Given the description of an element on the screen output the (x, y) to click on. 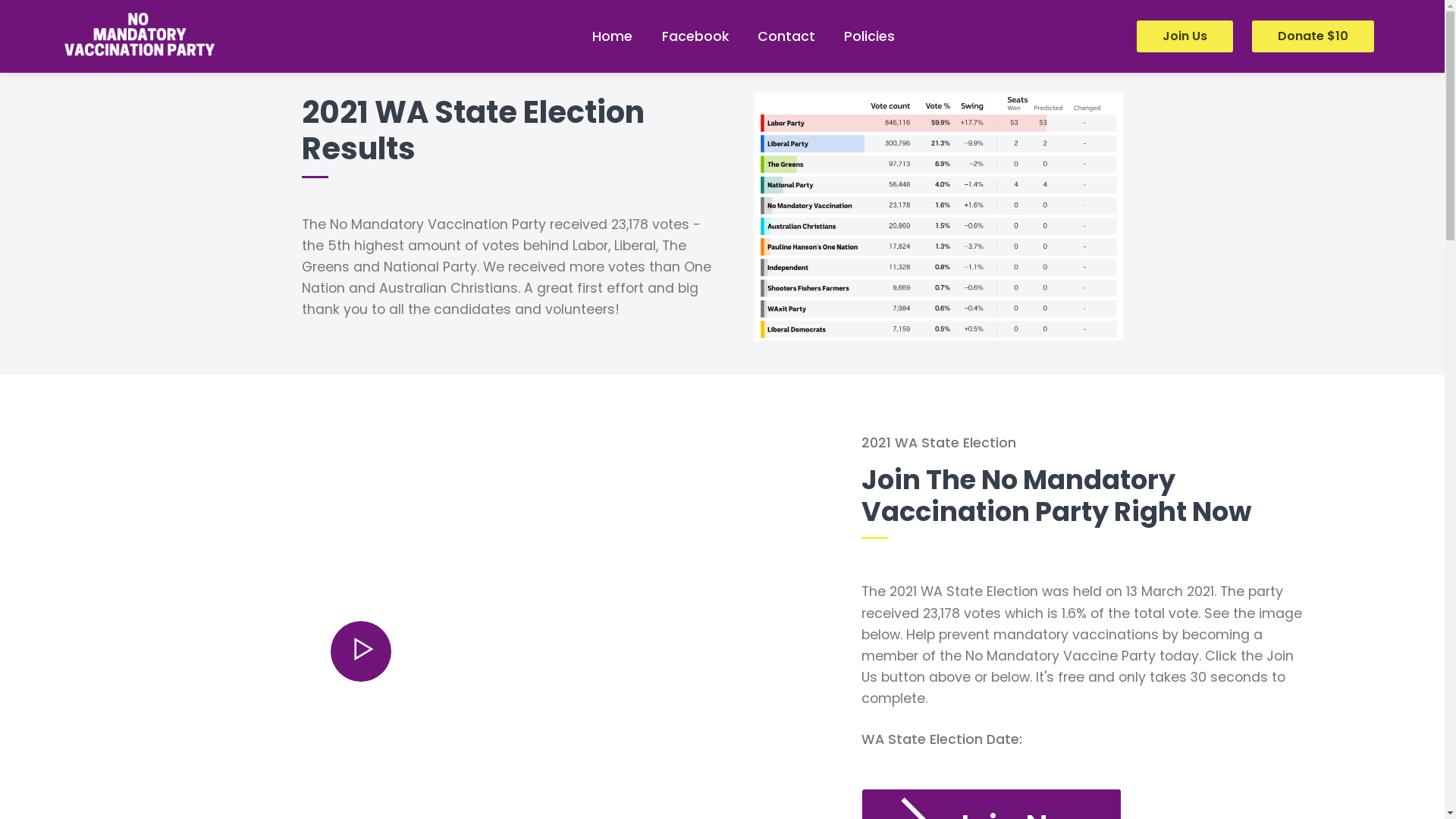
Join Us Element type: text (1184, 36)
Home Element type: text (612, 36)
Contact Element type: text (786, 36)
Policies Element type: text (869, 36)
Facebook Element type: text (695, 36)
Donate $10 Element type: text (1313, 36)
